Given the description of an element on the screen output the (x, y) to click on. 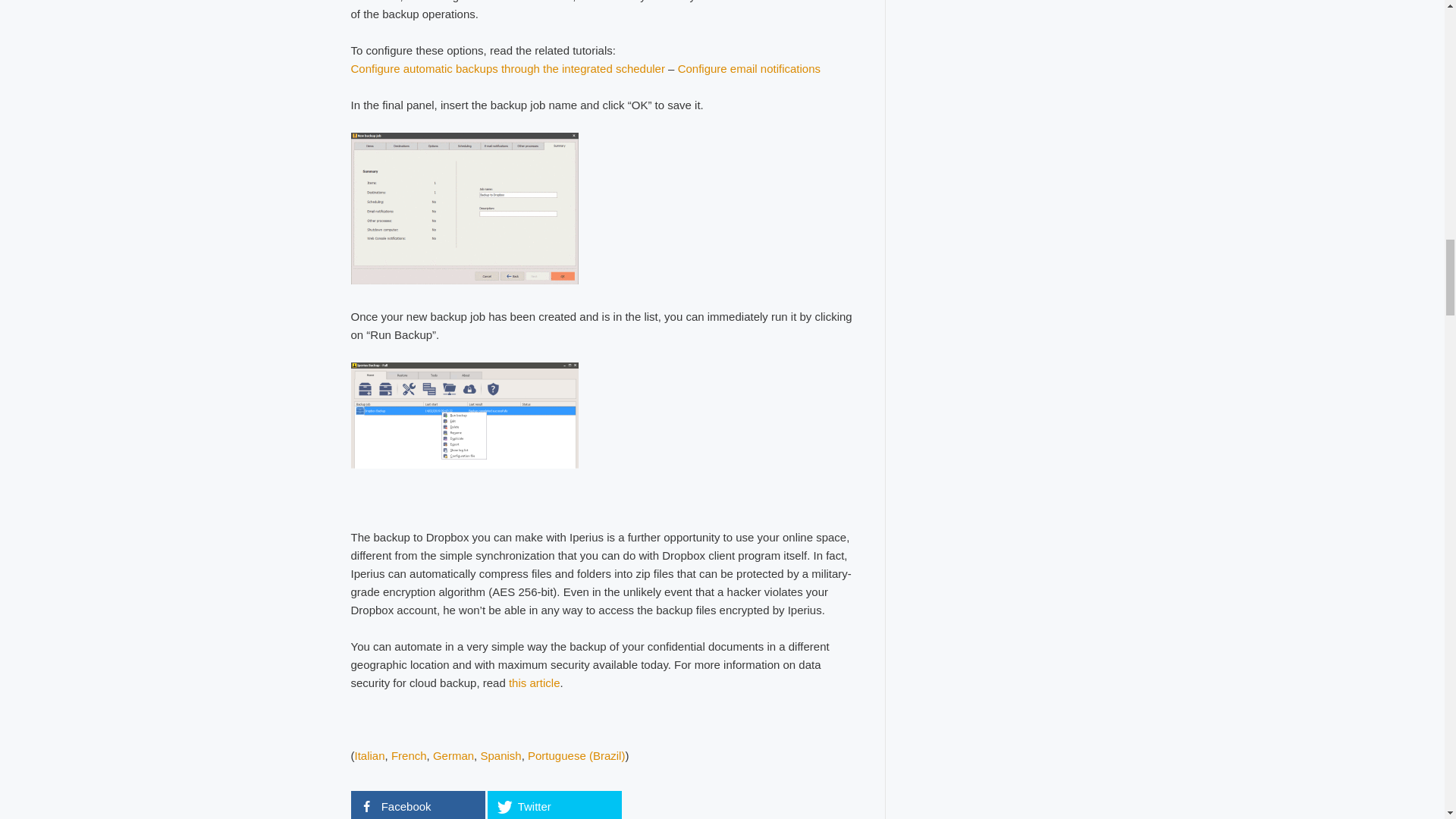
German (453, 755)
Facebook (417, 805)
French (408, 755)
Configure email notifications (749, 68)
this article (534, 682)
Twitter (553, 805)
Italian (370, 755)
Spanish (500, 755)
Configure automatic backups through the integrated scheduler (506, 68)
